Given the description of an element on the screen output the (x, y) to click on. 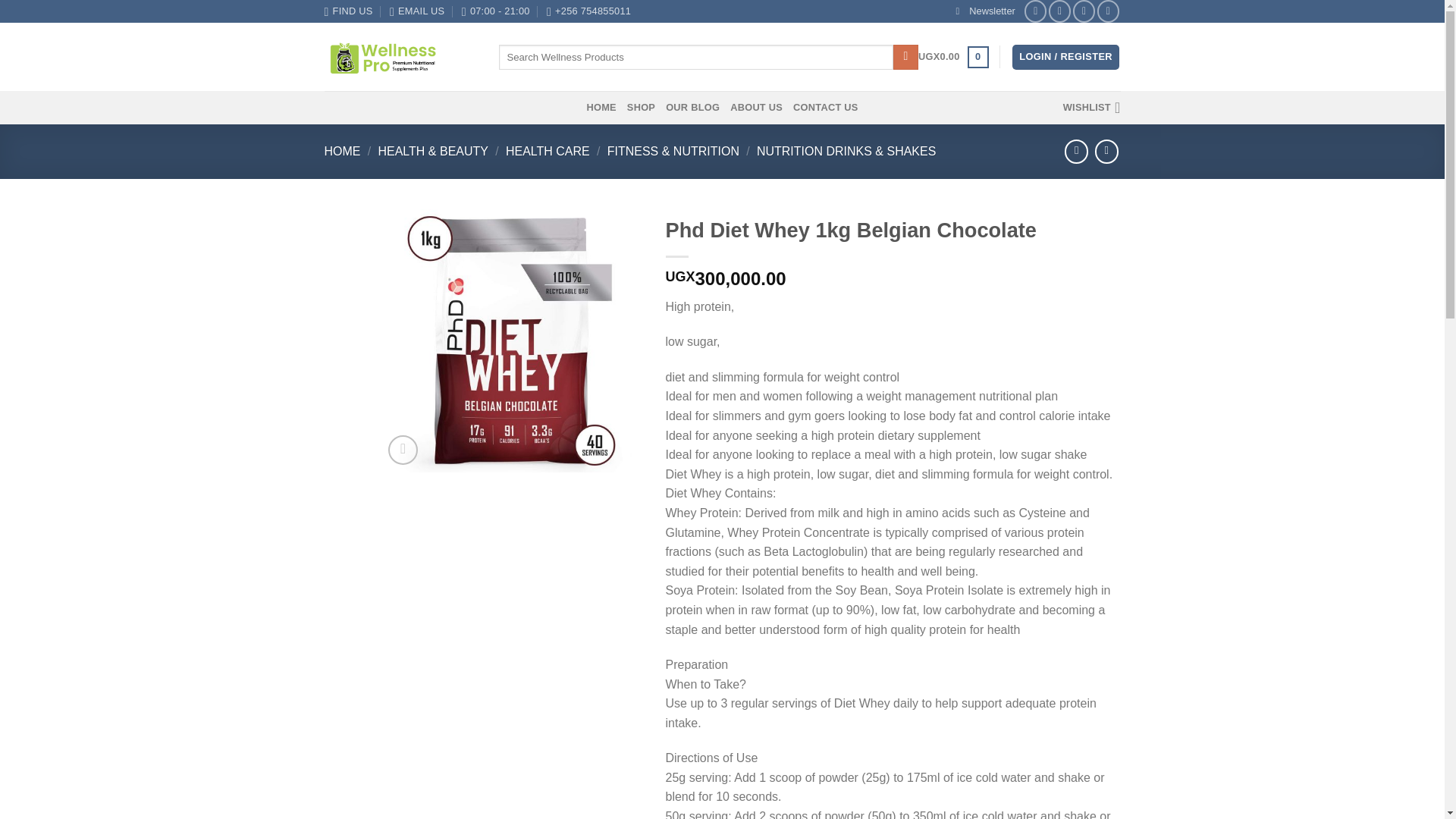
BE THE FIRST TO GET PROMO OFFERS STRAIGHT TO YOUR INBOX (985, 11)
SHOP (641, 107)
Follow on Twitter (1083, 11)
WISHLIST (1091, 107)
Newsletter (985, 11)
HOME (342, 151)
Ndeeba Weraga Road (348, 11)
HOME (600, 107)
07:00 - 21:00  (495, 11)
EMAIL US (417, 11)
